Given the description of an element on the screen output the (x, y) to click on. 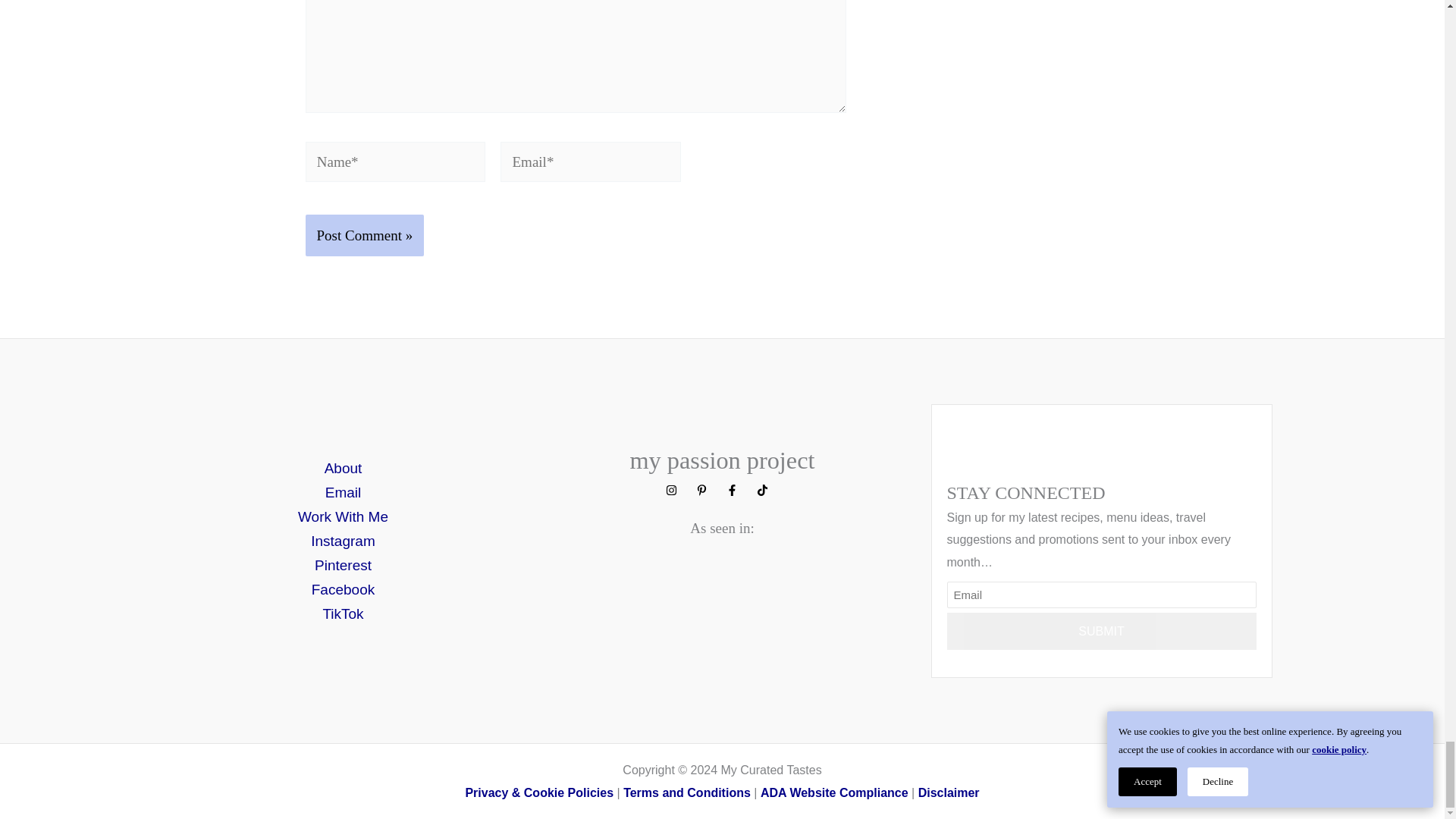
My Curated Tastes (948, 792)
Submit (1100, 631)
My Curated Tastes (687, 792)
My Curated Tastes (834, 792)
My Curated Tastes (538, 792)
